Given the description of an element on the screen output the (x, y) to click on. 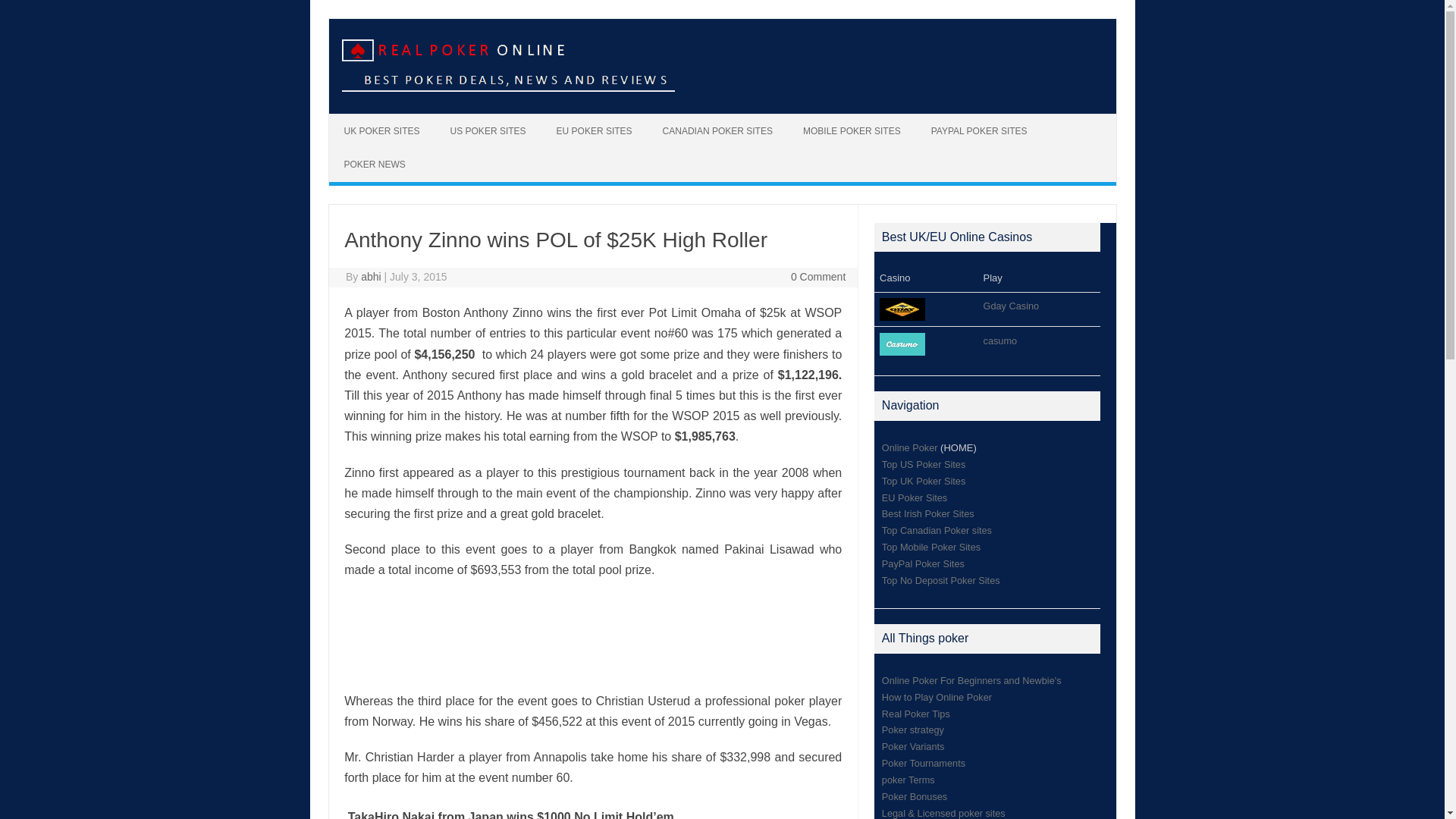
Top UK Poker Sites (923, 480)
UK POKER SITES (382, 131)
EU Poker Sites (914, 496)
CANADIAN POKER SITES (717, 131)
Best Irish Poker Sites (928, 513)
Real Poker Tips (916, 713)
US POKER SITES (488, 131)
Poker strategy (912, 729)
MOBILE POKER SITES (851, 131)
Top Mobile Poker Sites (930, 546)
Real Poker Online (507, 87)
PayPal Poker Sites (922, 563)
EU POKER SITES (594, 131)
Posts by abhi (370, 276)
Top No Deposit Poker Sites (941, 580)
